Given the description of an element on the screen output the (x, y) to click on. 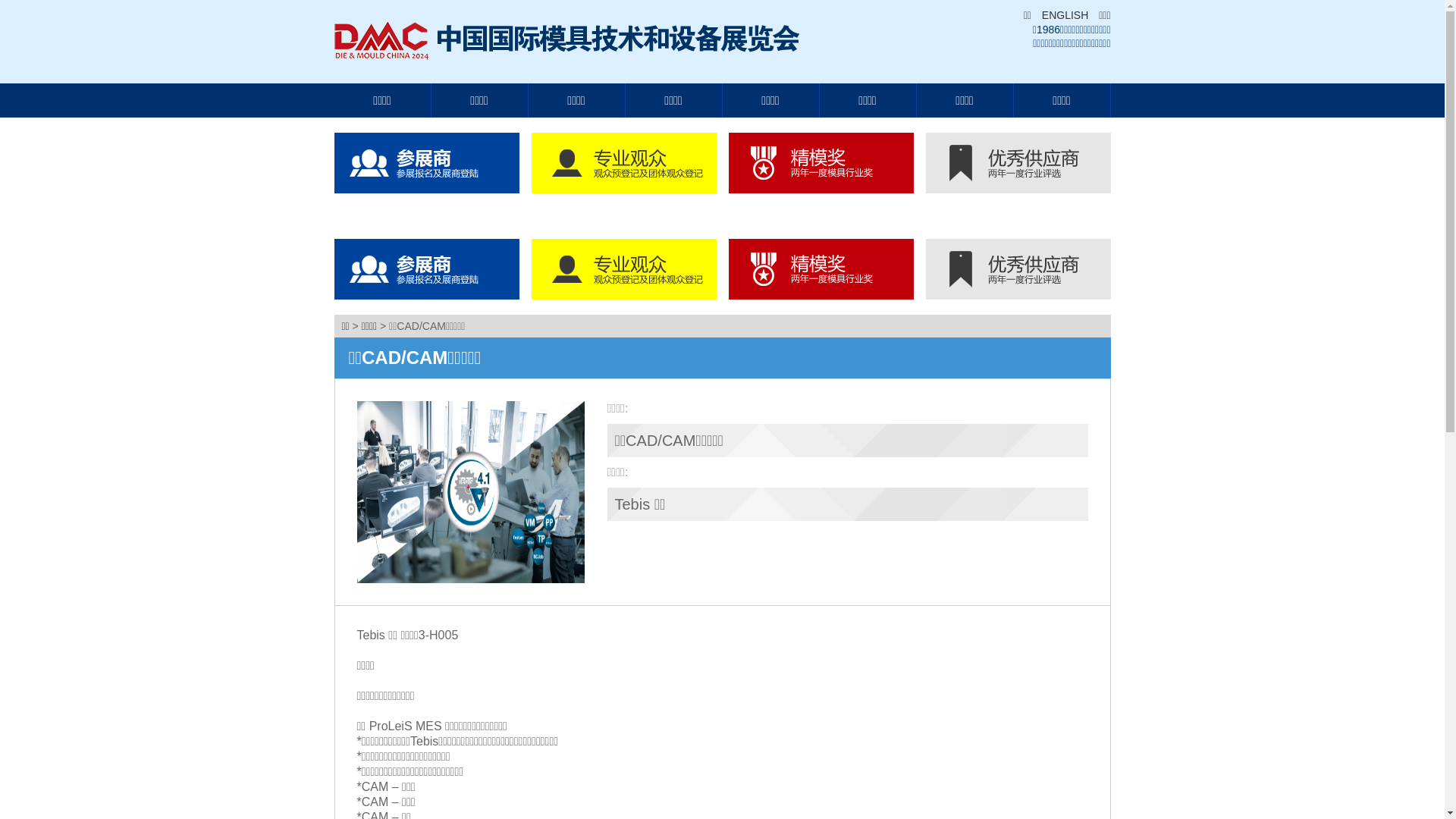
ENGLISH Element type: text (1061, 15)
